Given the description of an element on the screen output the (x, y) to click on. 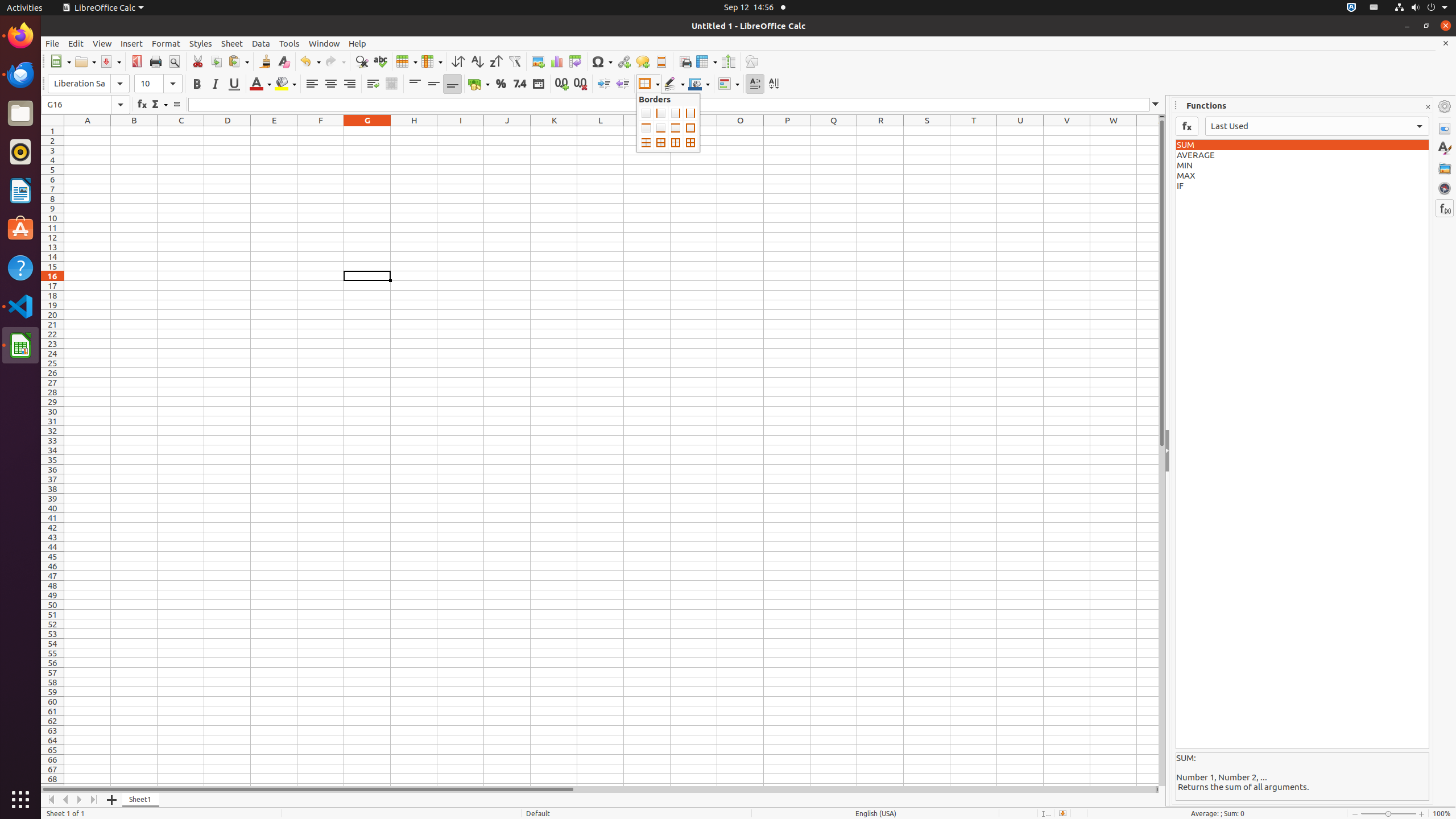
Align Left Element type: push-button (311, 83)
Freeze Rows and Columns Element type: push-button (705, 61)
Comment Element type: push-button (642, 61)
Gallery Element type: radio-button (1444, 168)
AVERAGE Element type: list-item (1302, 155)
